Given the description of an element on the screen output the (x, y) to click on. 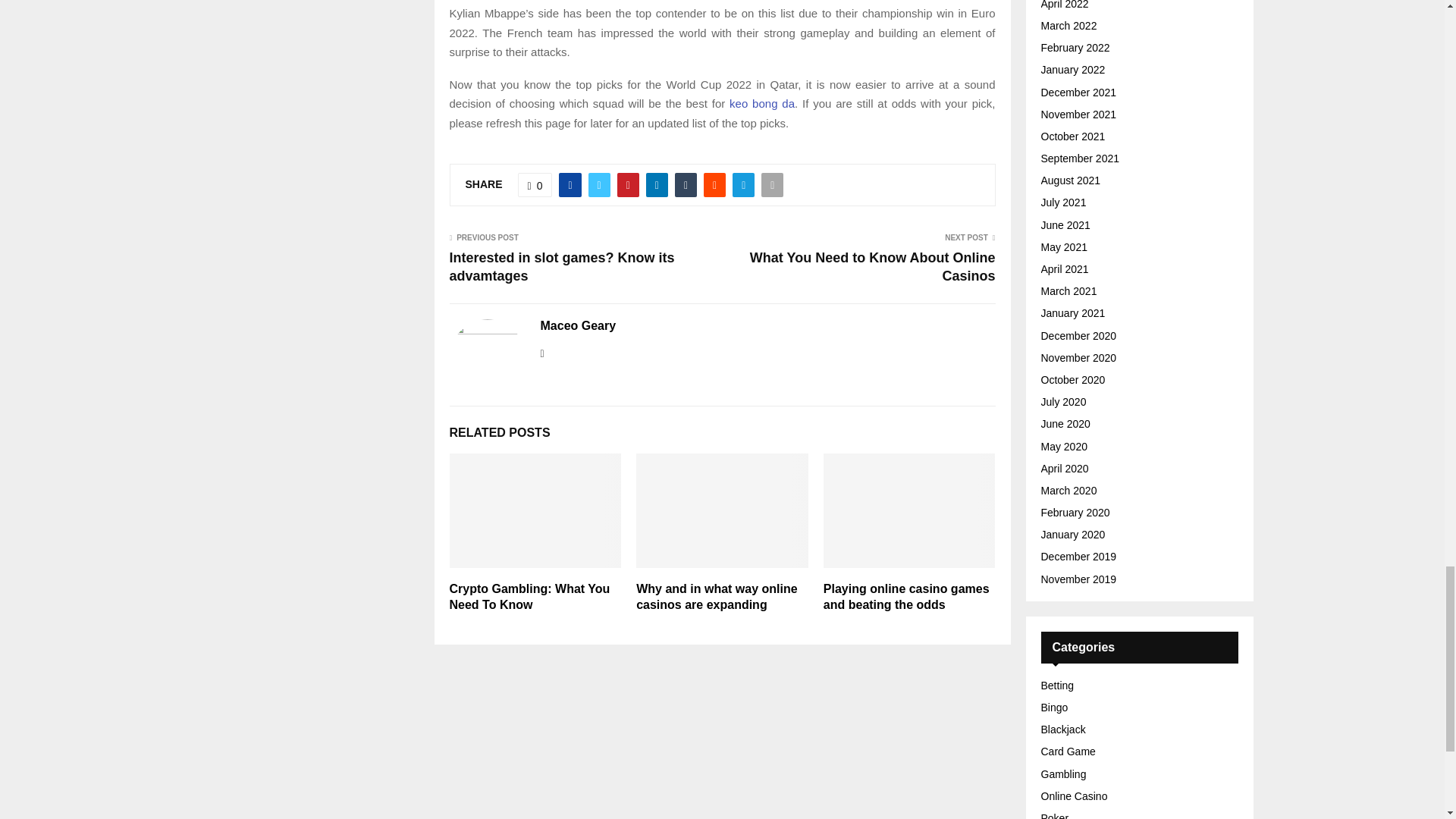
Like (535, 184)
